Given the description of an element on the screen output the (x, y) to click on. 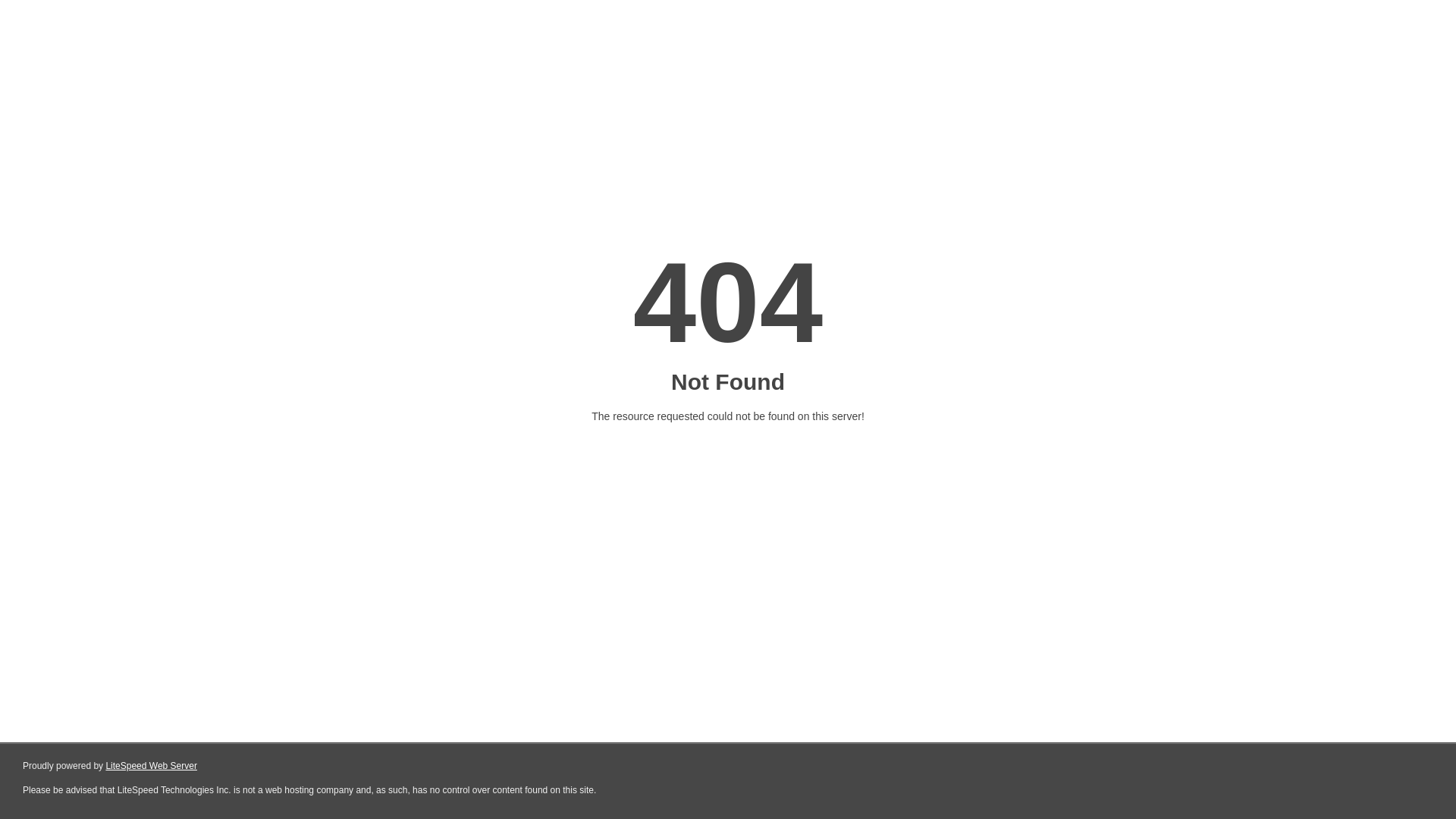
LiteSpeed Web Server Element type: text (151, 765)
